Given the description of an element on the screen output the (x, y) to click on. 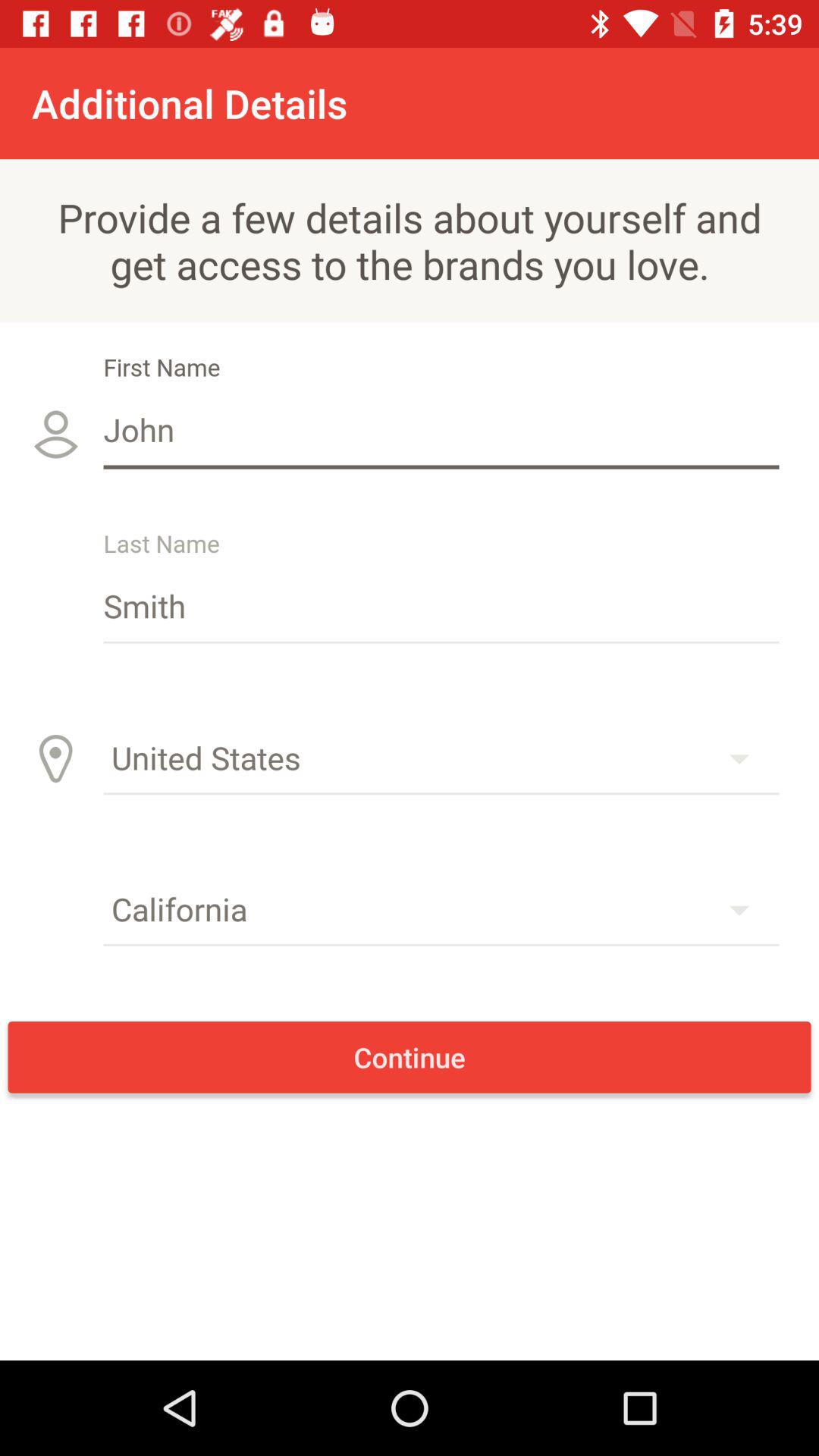
select the icon below john item (441, 605)
